Given the description of an element on the screen output the (x, y) to click on. 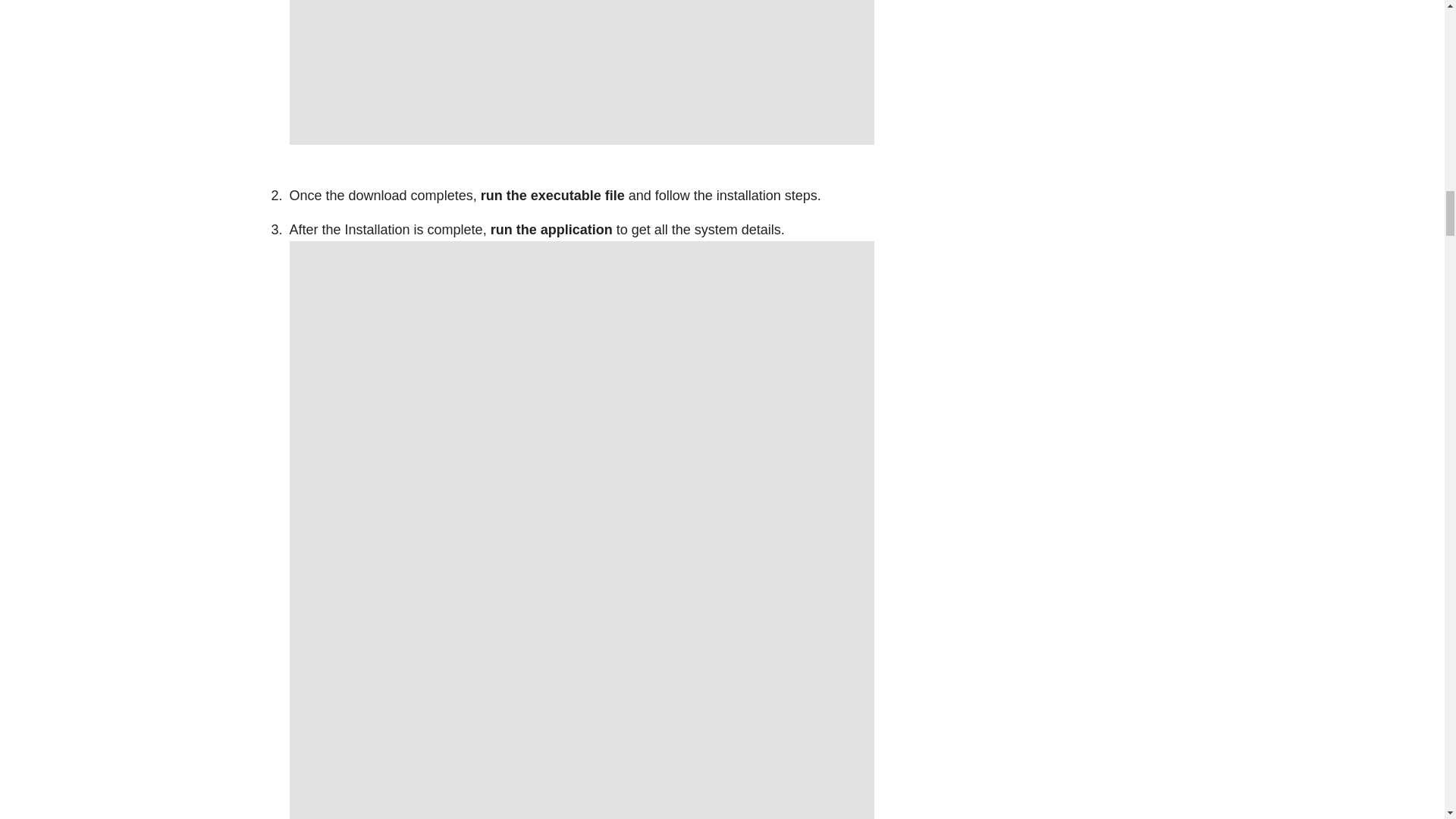
8 Best Tools To Monitor CPU Temperature 18 (582, 72)
